Given the description of an element on the screen output the (x, y) to click on. 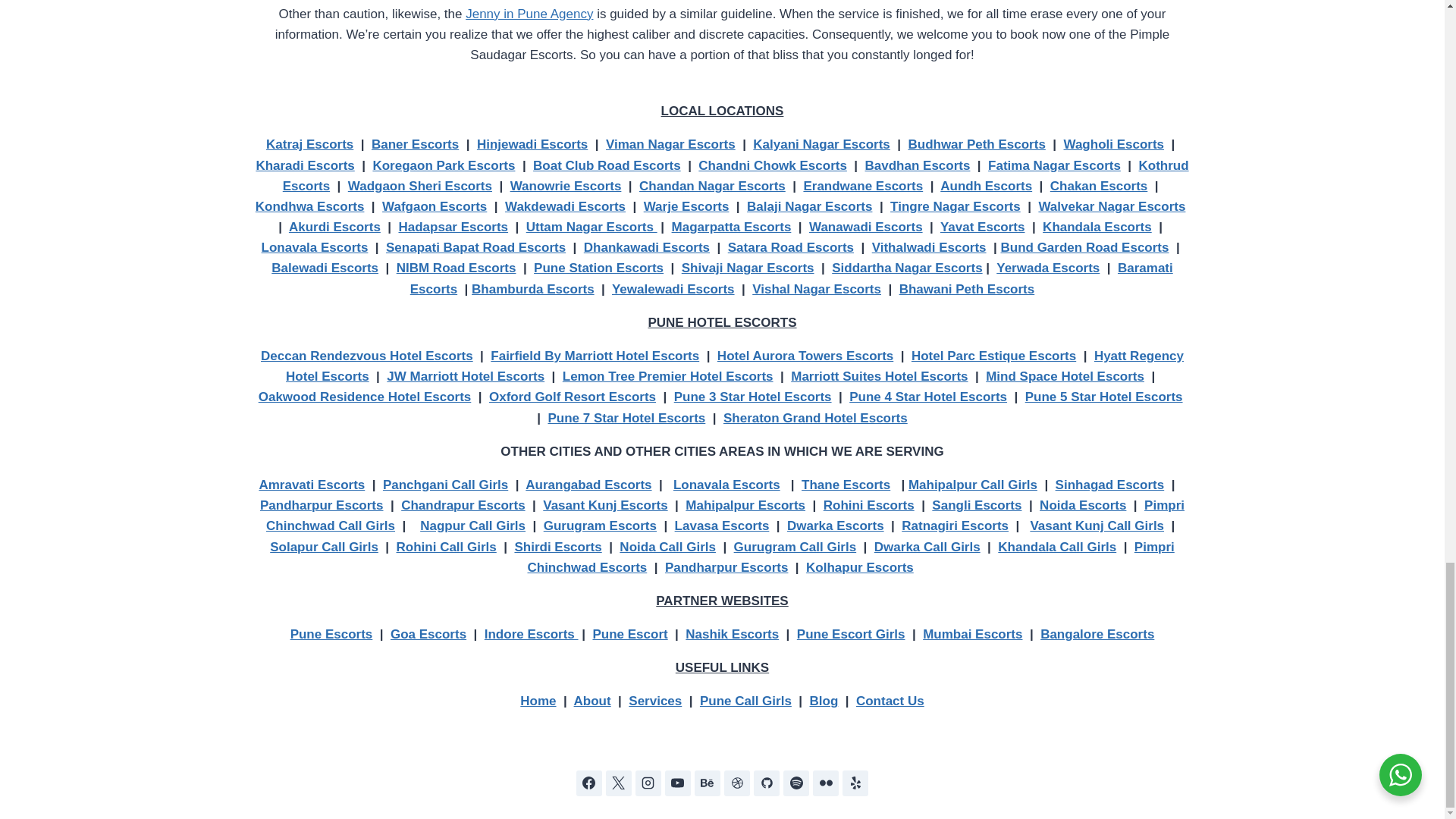
Fatima Nagar Escorts (1054, 165)
Bavdhan Escorts (917, 165)
Kondhwa Escorts (310, 206)
Akurdi Escorts (334, 227)
Erandwane Escorts (863, 186)
Viman Nagar Escorts (670, 144)
Hinjewadi Escorts (532, 144)
Jenny in Pune Agency (528, 13)
Balaji Nagar Escorts (809, 206)
Walvekar Nagar Escorts (1111, 206)
Wanawadi Escorts (866, 227)
Hadapsar Escorts (453, 227)
Tingre Nagar Escorts (954, 206)
Kharadi Escorts (304, 165)
Uttam Nagar Escorts  (591, 227)
